Given the description of an element on the screen output the (x, y) to click on. 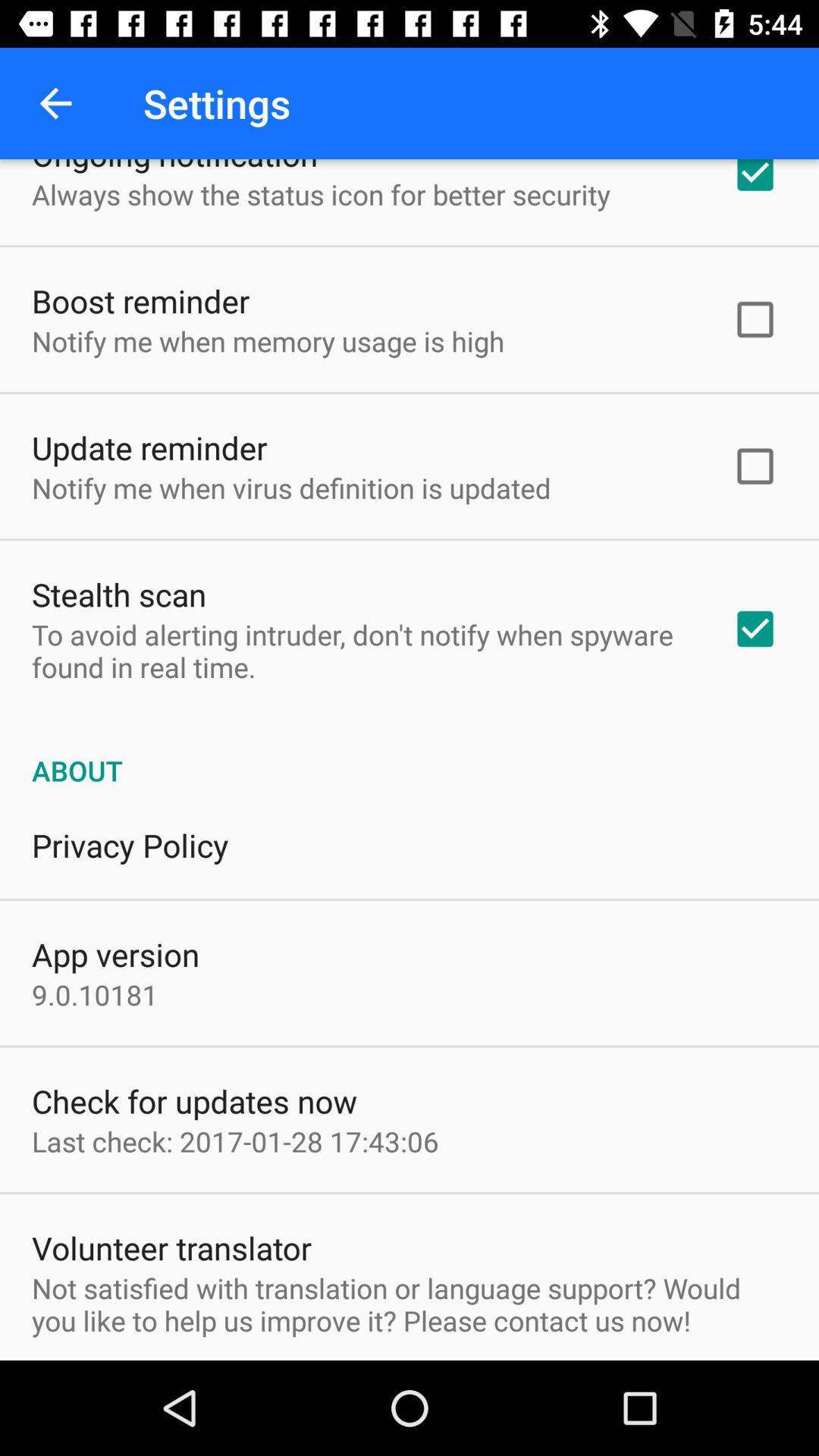
select the icon above to avoid alerting (118, 593)
